Given the description of an element on the screen output the (x, y) to click on. 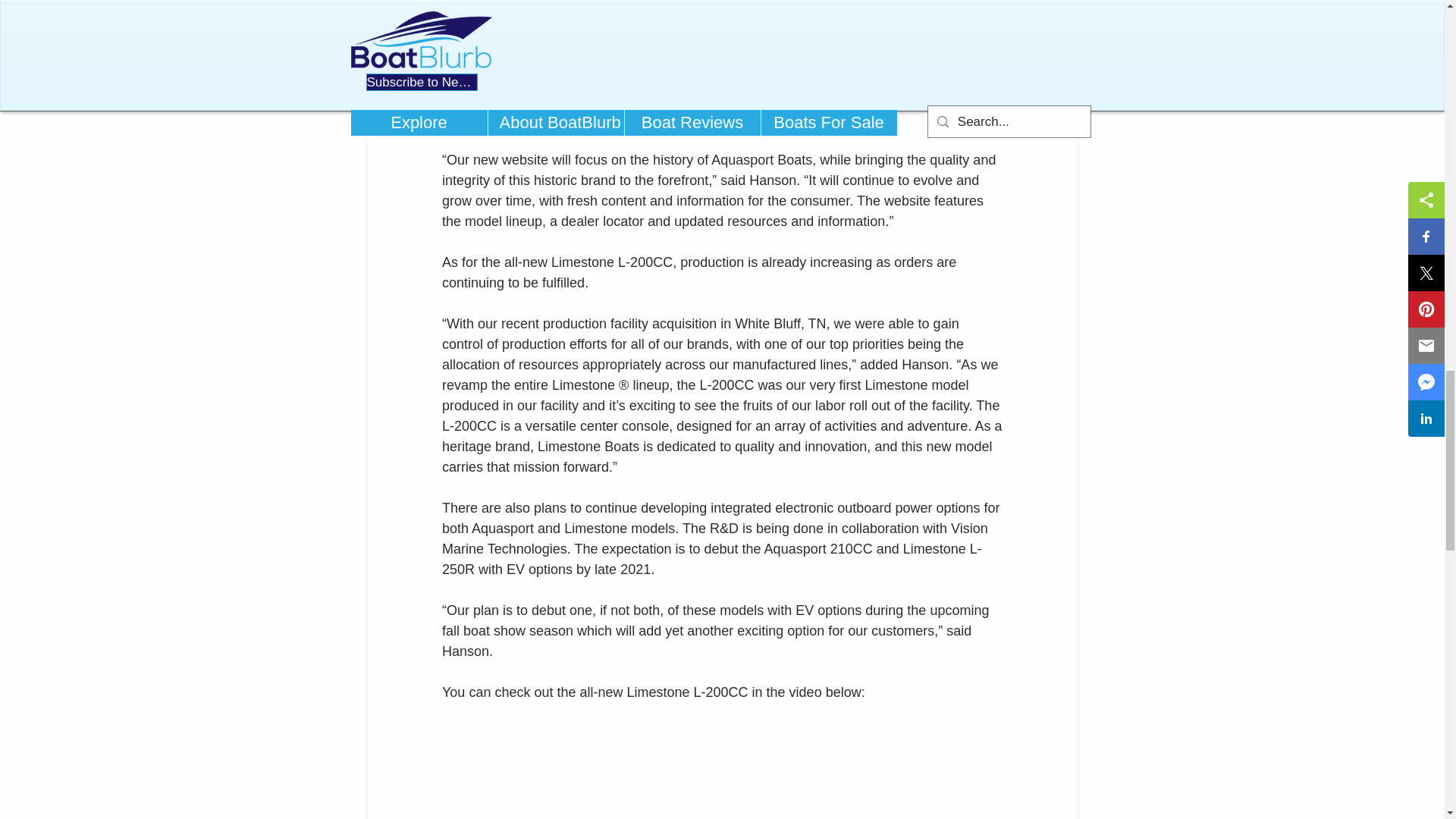
new website (925, 98)
